Given the description of an element on the screen output the (x, y) to click on. 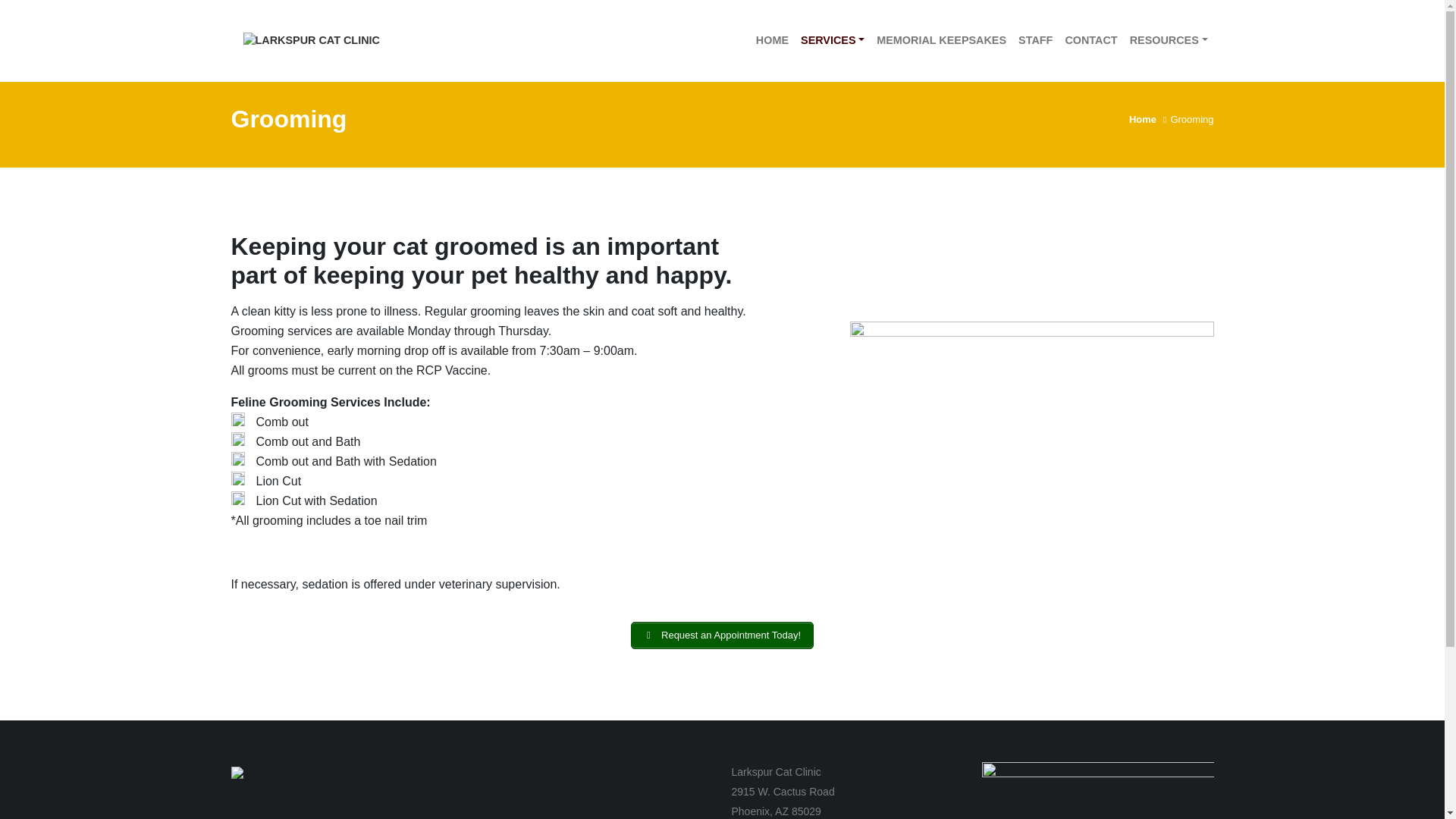
CONTACT (1090, 40)
RESOURCES (1169, 40)
HOME (771, 40)
Request an Appointment Today! (721, 635)
MEMORIAL KEEPSAKES (940, 40)
STAFF (1034, 40)
SERVICES (832, 40)
Home (1142, 119)
